Given the description of an element on the screen output the (x, y) to click on. 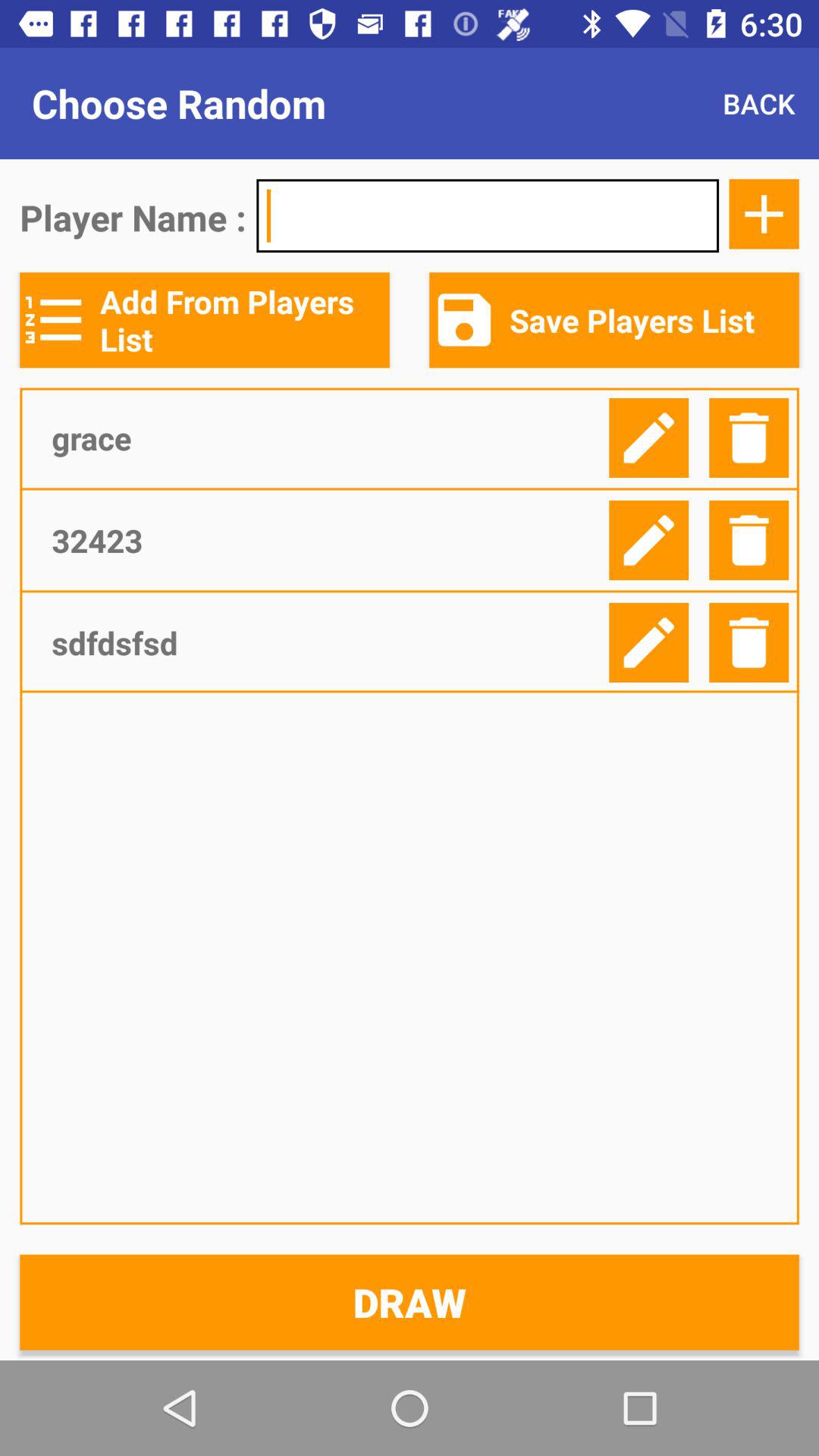
user-defined player name (487, 215)
